Given the description of an element on the screen output the (x, y) to click on. 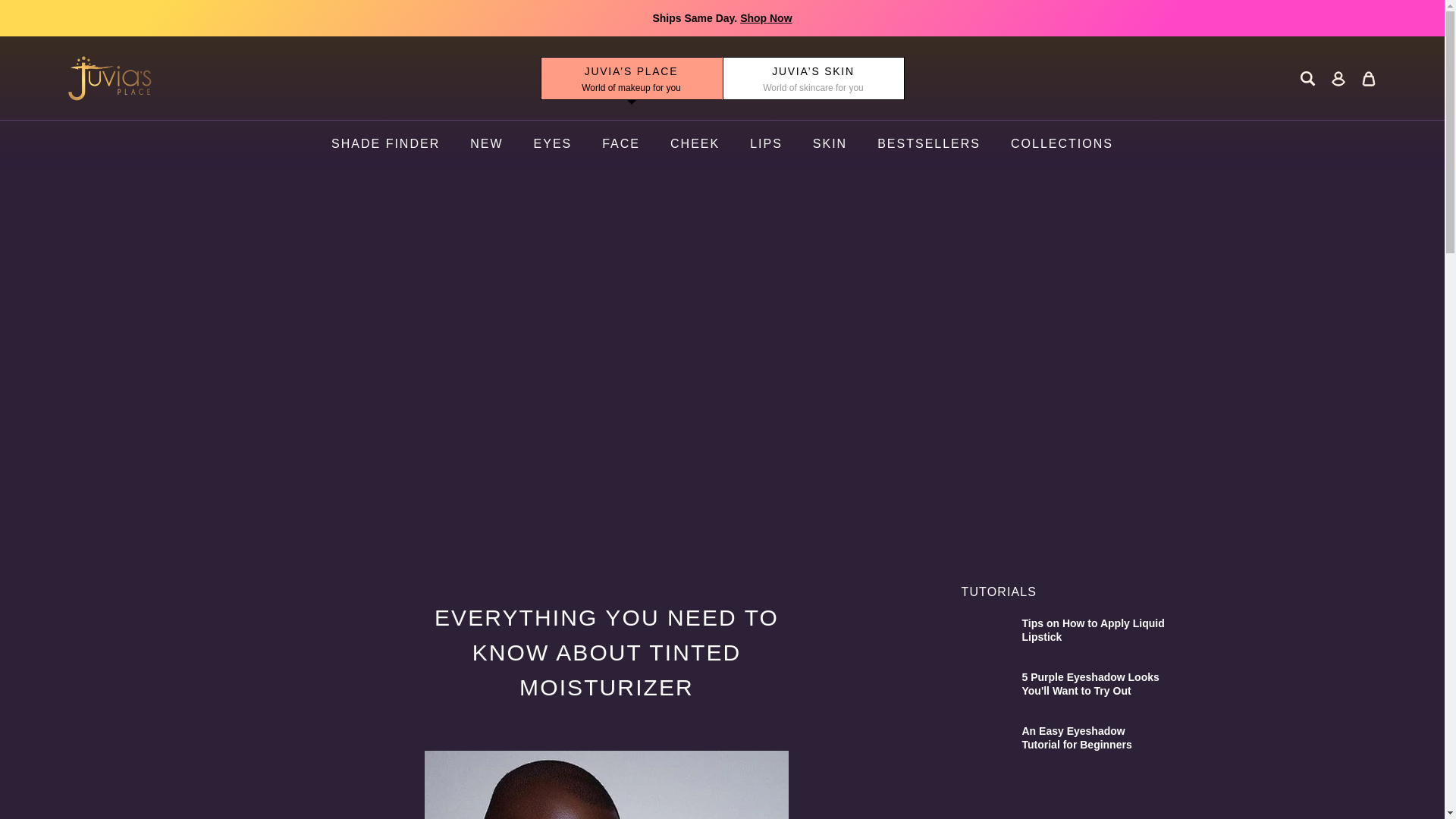
NEW (486, 143)
Cyber Monday Makeup Deals 2023 (765, 18)
search (1308, 78)
EYES (553, 143)
FACE (621, 143)
SHADE FINDER (385, 143)
Login (1337, 78)
Shop Now (765, 18)
